Given the description of an element on the screen output the (x, y) to click on. 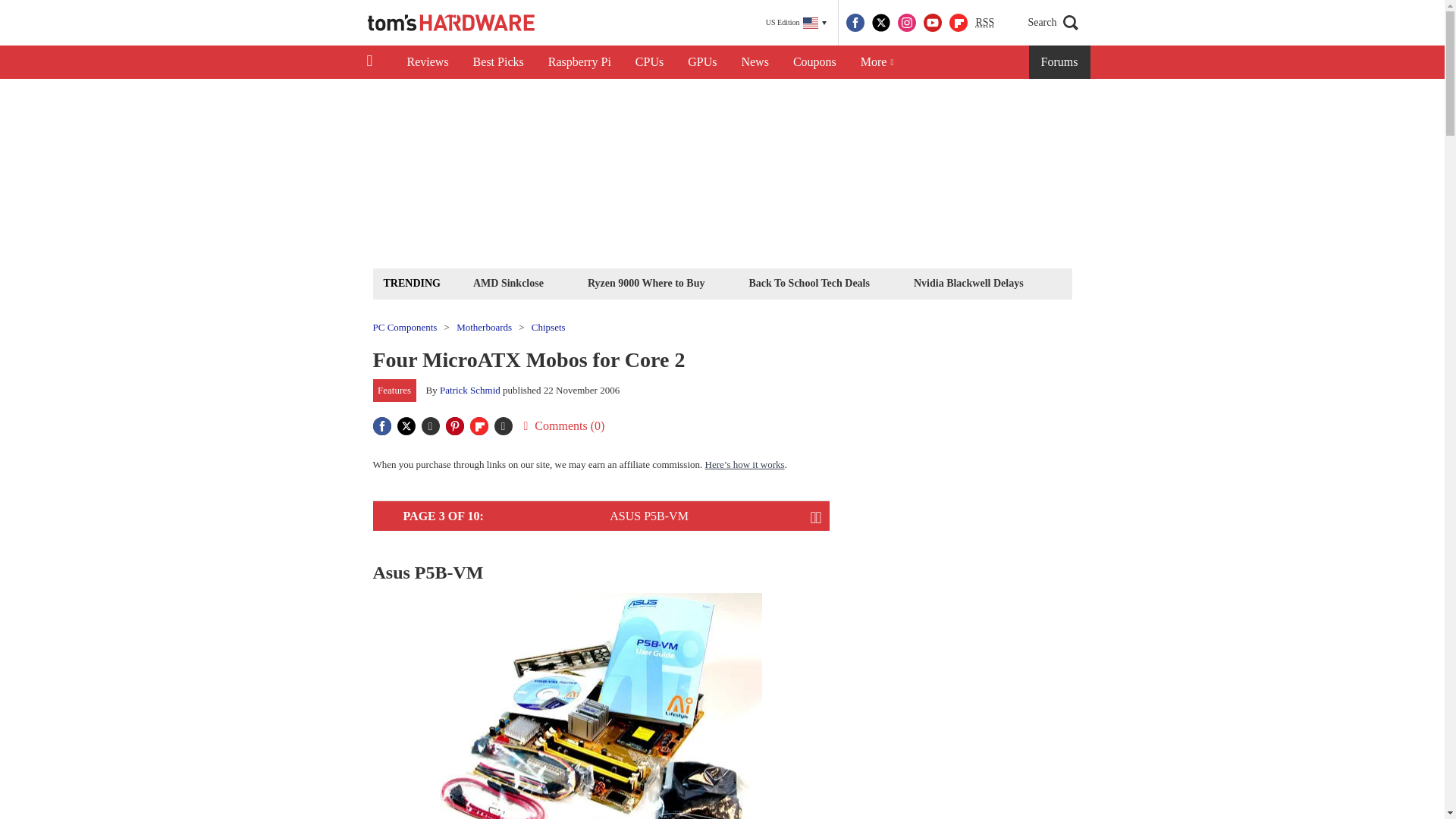
Reviews (427, 61)
Really Simple Syndication (984, 21)
CPUs (649, 61)
AMD Sinkclose (507, 282)
Forums (1059, 61)
RSS (984, 22)
Raspberry Pi (579, 61)
US Edition (796, 22)
News (754, 61)
GPUs (702, 61)
